Given the description of an element on the screen output the (x, y) to click on. 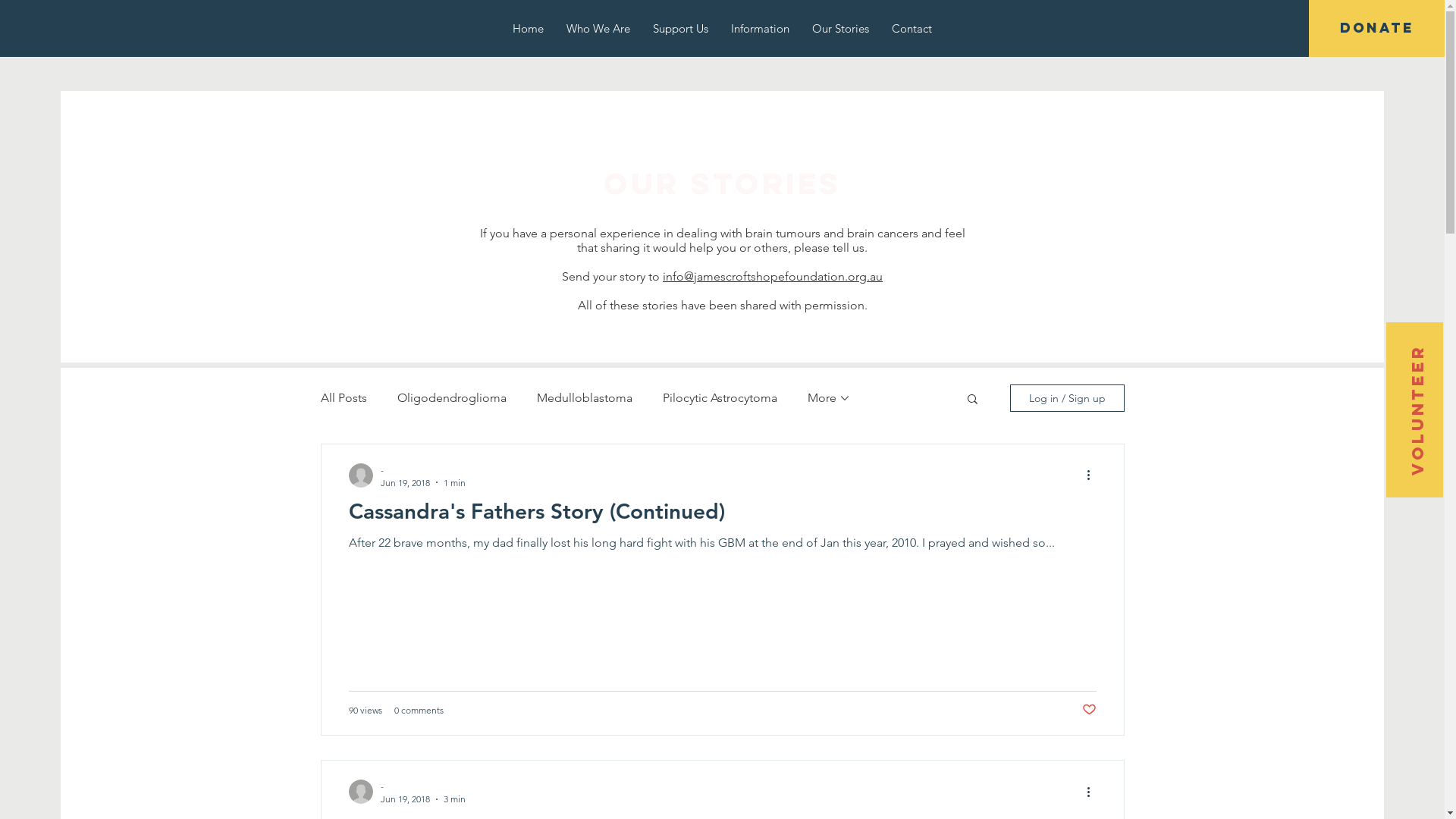
All Posts Element type: text (343, 397)
Home Element type: text (528, 28)
Medulloblastoma Element type: text (584, 397)
Information Element type: text (759, 28)
info@jamescroftshopefoundation.org.au Element type: text (772, 275)
Oligodendroglioma Element type: text (451, 397)
Support Us Element type: text (680, 28)
Pilocytic Astrocytoma Element type: text (719, 397)
Glioblastoma Element type: text (842, 397)
Who We Are Element type: text (598, 28)
DONATE Element type: text (1376, 28)
Contact Element type: text (911, 28)
Log in / Sign up Element type: text (1067, 397)
Our Stories Element type: text (840, 28)
